Given the description of an element on the screen output the (x, y) to click on. 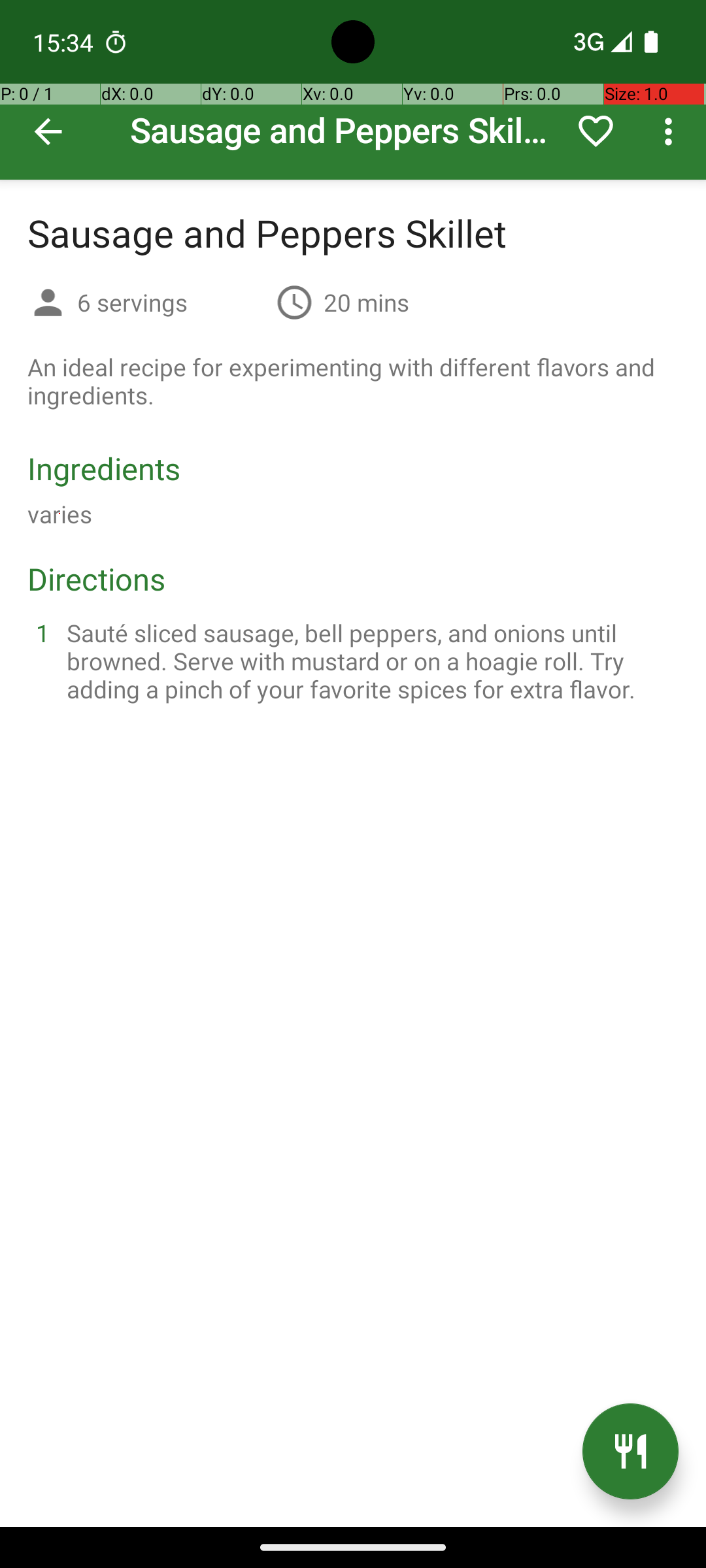
Sauté sliced sausage, bell peppers, and onions until browned. Serve with mustard or on a hoagie roll. Try adding a pinch of your favorite spices for extra flavor. Element type: android.widget.TextView (368, 660)
